Given the description of an element on the screen output the (x, y) to click on. 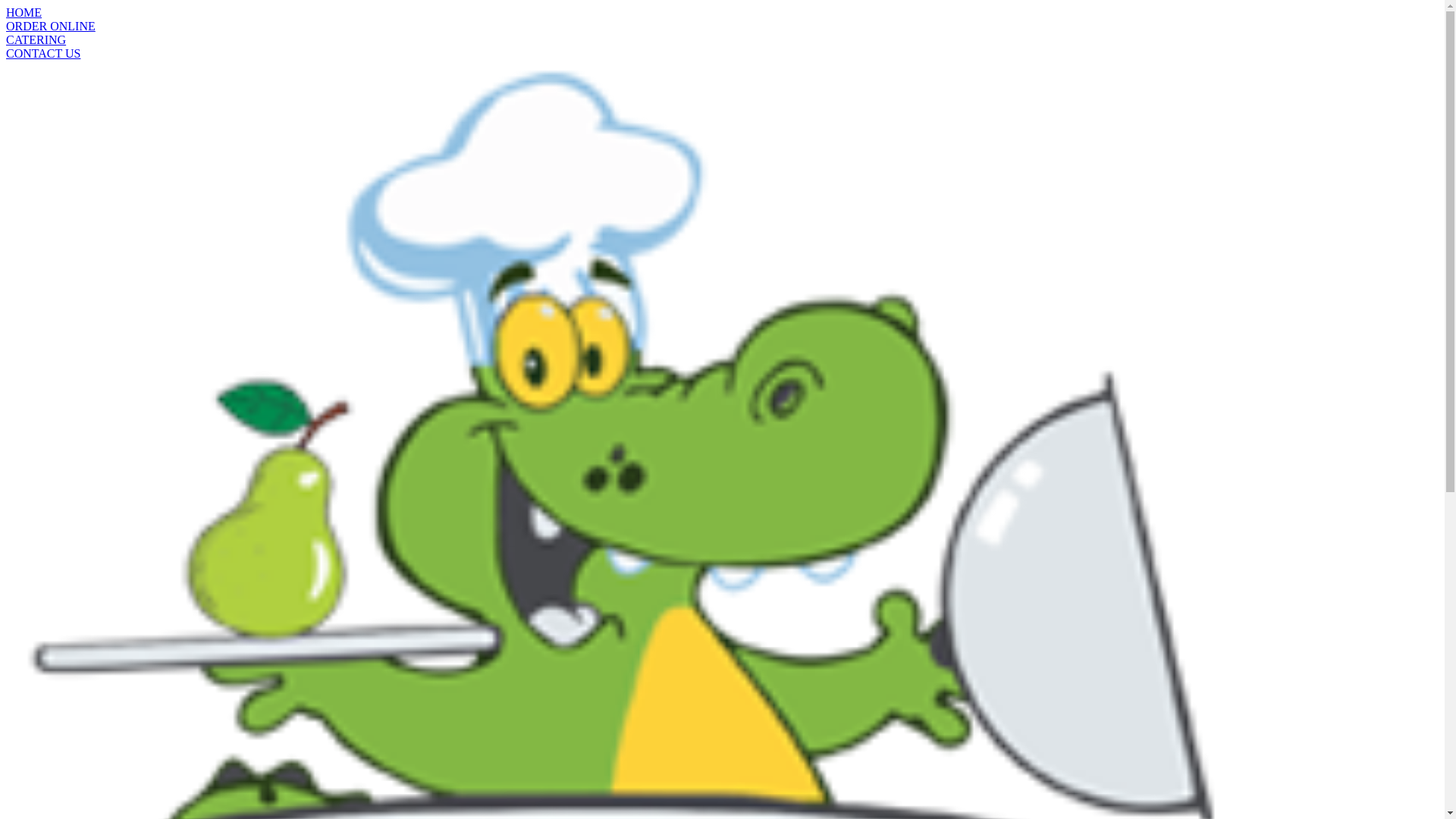
CATERING Element type: text (722, 40)
CONTACT US Element type: text (722, 53)
ORDER ONLINE Element type: text (722, 26)
HOME Element type: text (722, 12)
